Given the description of an element on the screen output the (x, y) to click on. 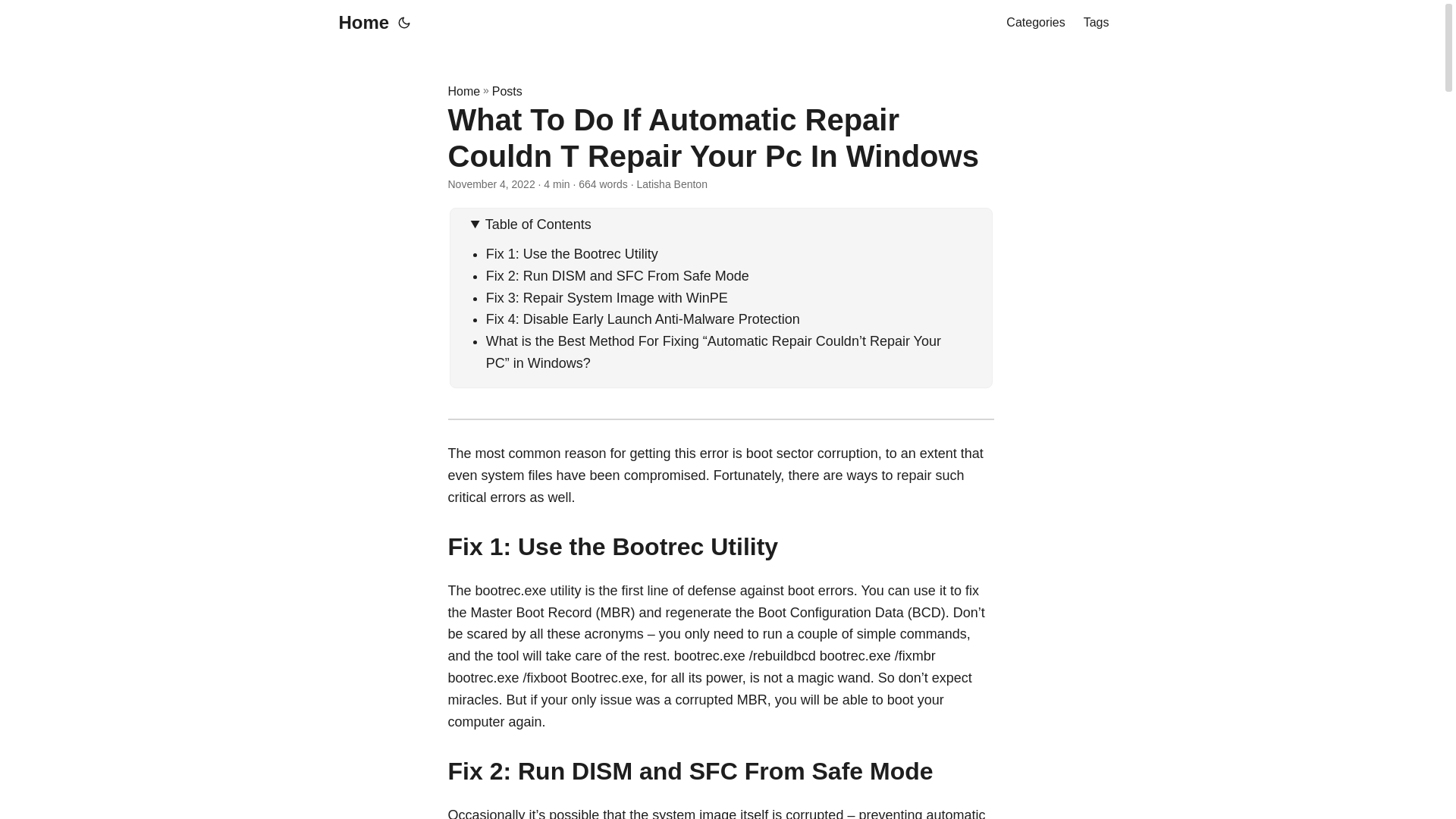
Fix 2: Run DISM and SFC From Safe Mode (617, 275)
Posts (507, 91)
Fix 1: Use the Bootrec Utility (572, 253)
Categories (1035, 22)
Categories (1035, 22)
Fix 3: Repair System Image with WinPE (607, 297)
Fix 4: Disable Early Launch Anti-Malware Protection (642, 319)
Home (463, 91)
Home (359, 22)
